Given the description of an element on the screen output the (x, y) to click on. 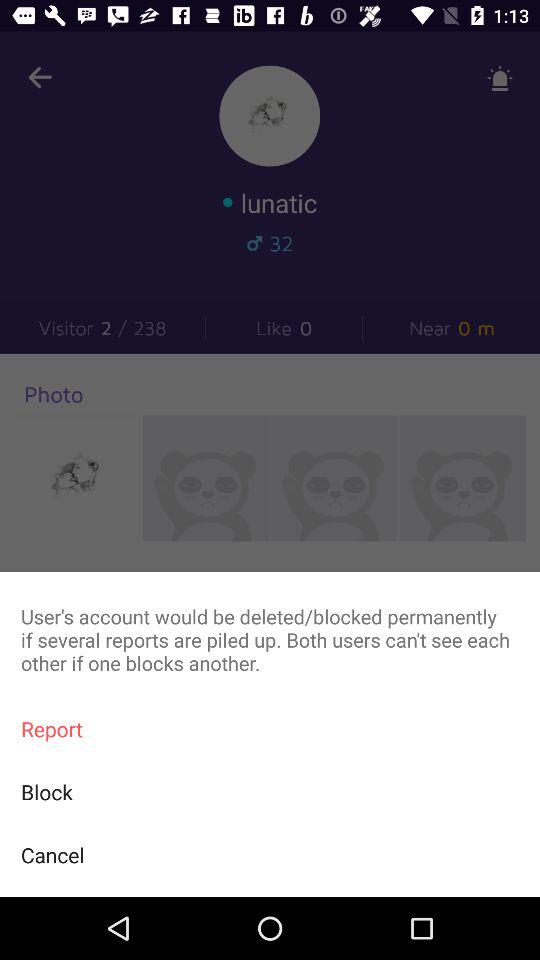
turn on the block item (270, 791)
